Given the description of an element on the screen output the (x, y) to click on. 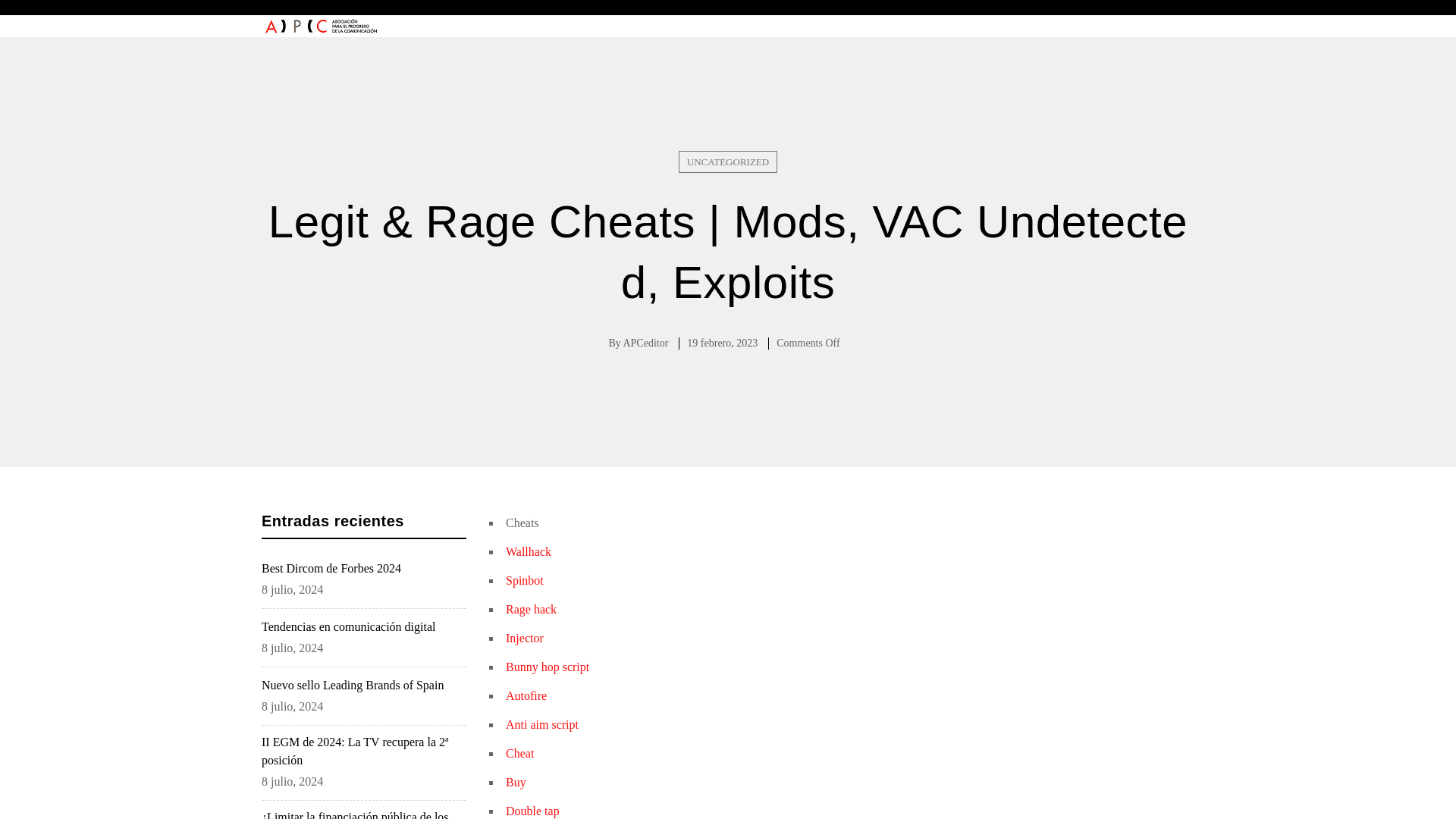
Cheat (519, 753)
Autofire (526, 695)
Spinbot (524, 580)
Wallhack (528, 551)
Bunny hop script (547, 666)
View all posts by APCeditor (645, 342)
Best Dircom de Forbes 2024 (363, 568)
Rage hack (530, 608)
Anti aim script (541, 724)
UNCATEGORIZED (727, 161)
Buy (515, 781)
Double tap (532, 810)
Injector (524, 637)
APCeditor (645, 342)
Nuevo sello Leading Brands of Spain (363, 685)
